Given the description of an element on the screen output the (x, y) to click on. 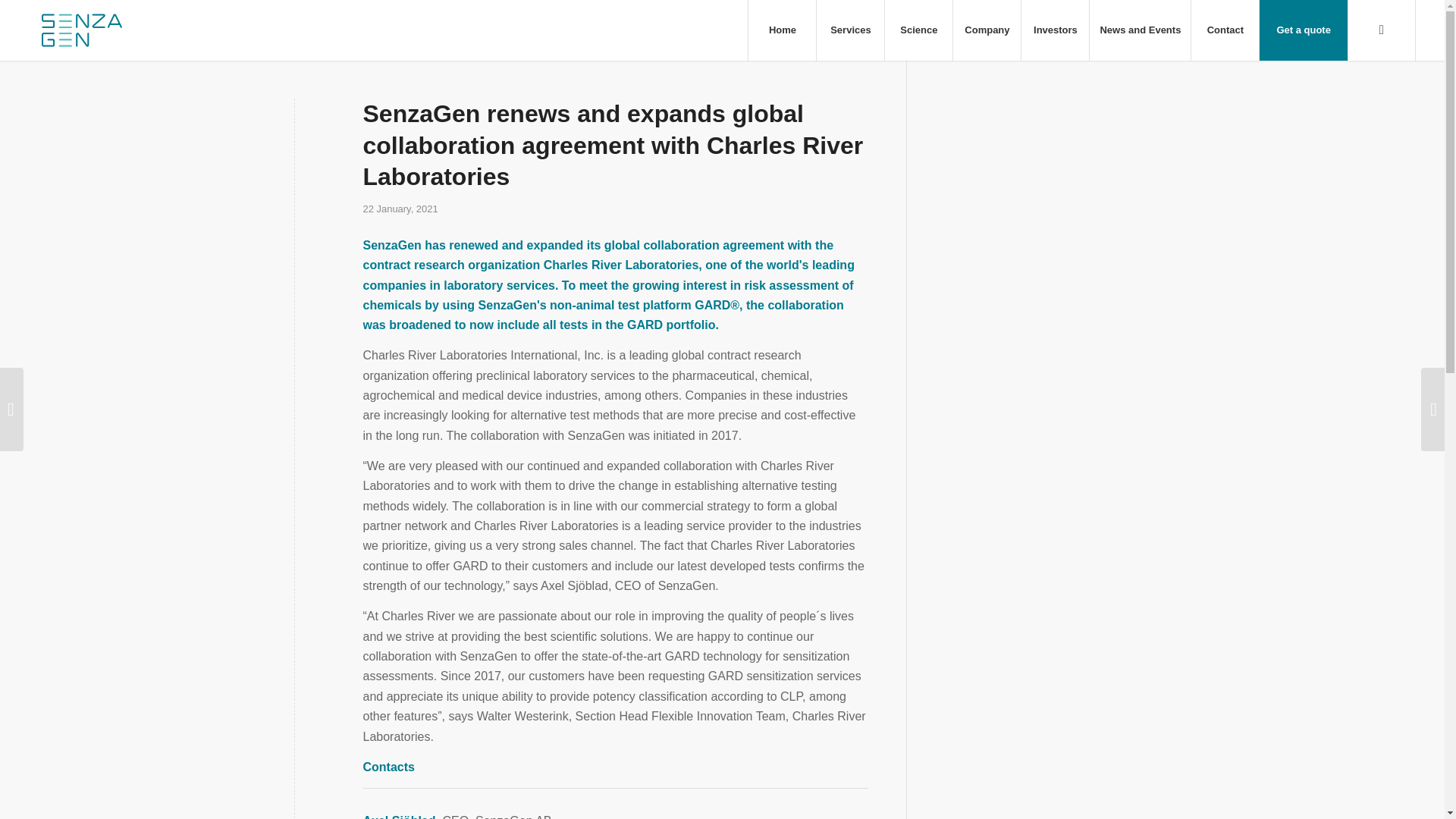
Science (917, 30)
Services (849, 30)
Investors (1054, 30)
Company (986, 30)
Home (781, 30)
